Given the description of an element on the screen output the (x, y) to click on. 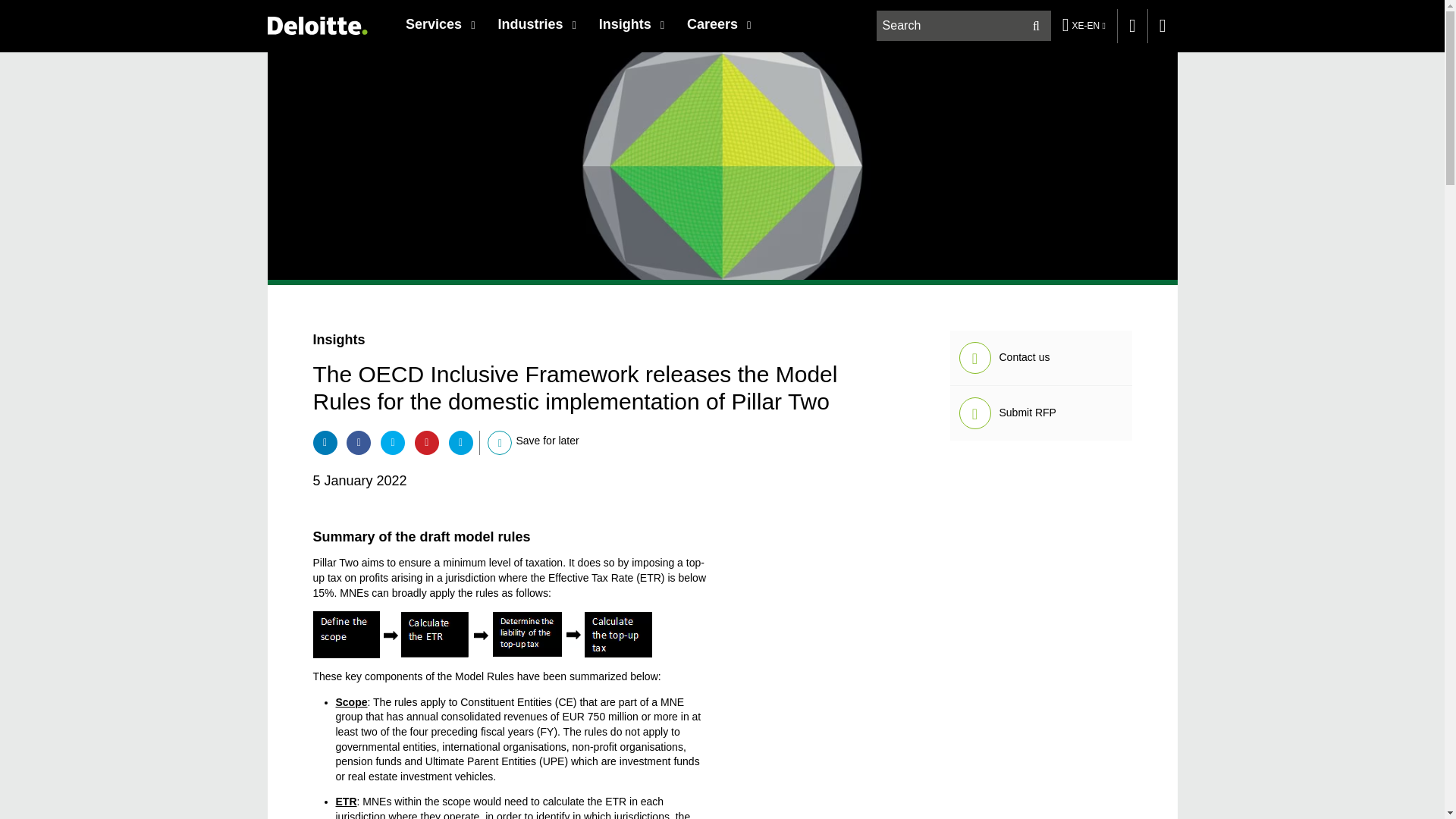
Save for later (499, 442)
Industries (536, 24)
Services (440, 24)
Share by email (460, 442)
Share on Twitter (392, 442)
Search (1036, 25)
Share on LinkedIn (324, 442)
Share on Pinterest (426, 442)
Deloitte Middle East (316, 25)
Share on Facebook (358, 442)
